Given the description of an element on the screen output the (x, y) to click on. 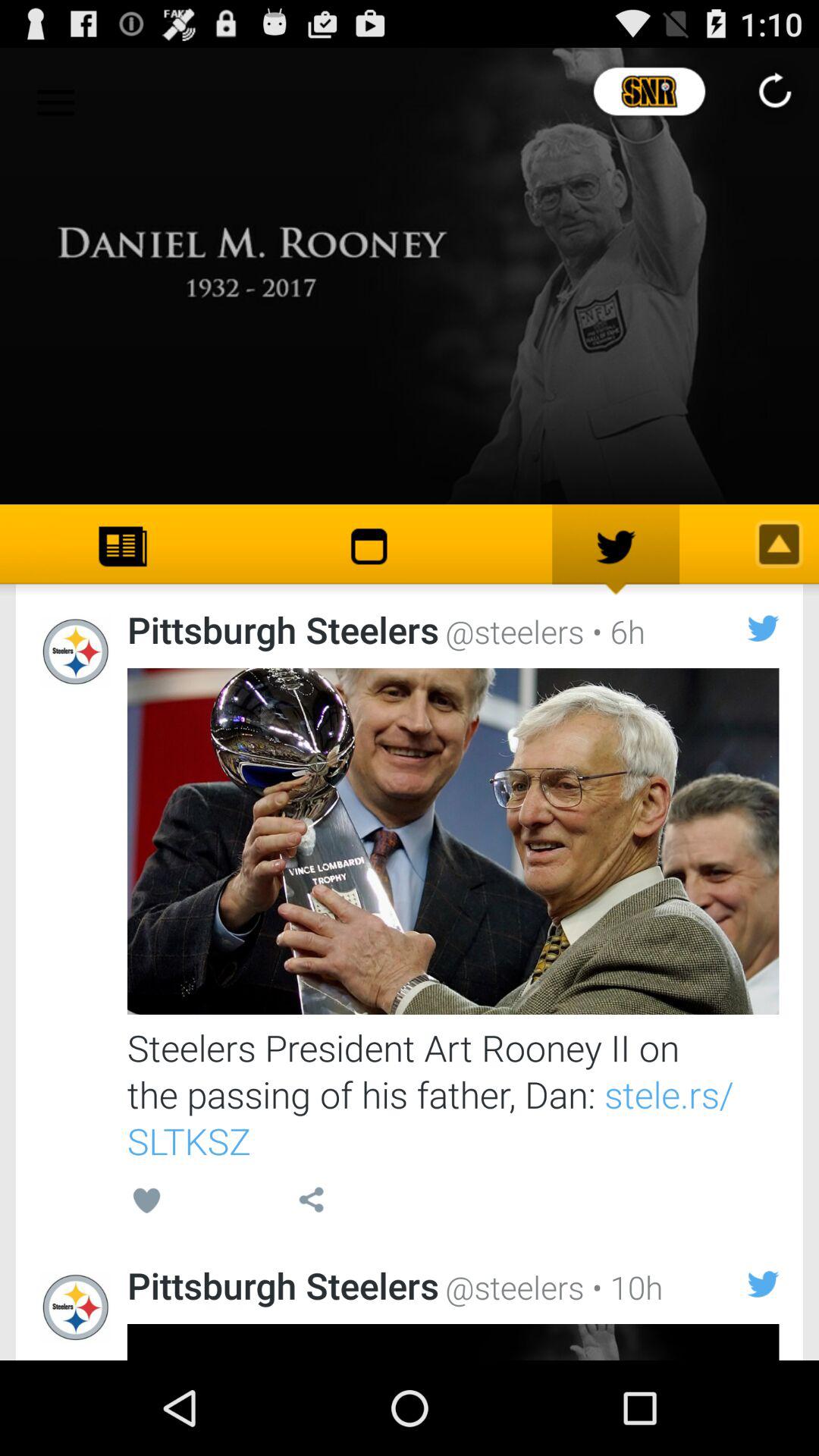
select item to the right of the @steelers icon (614, 630)
